Given the description of an element on the screen output the (x, y) to click on. 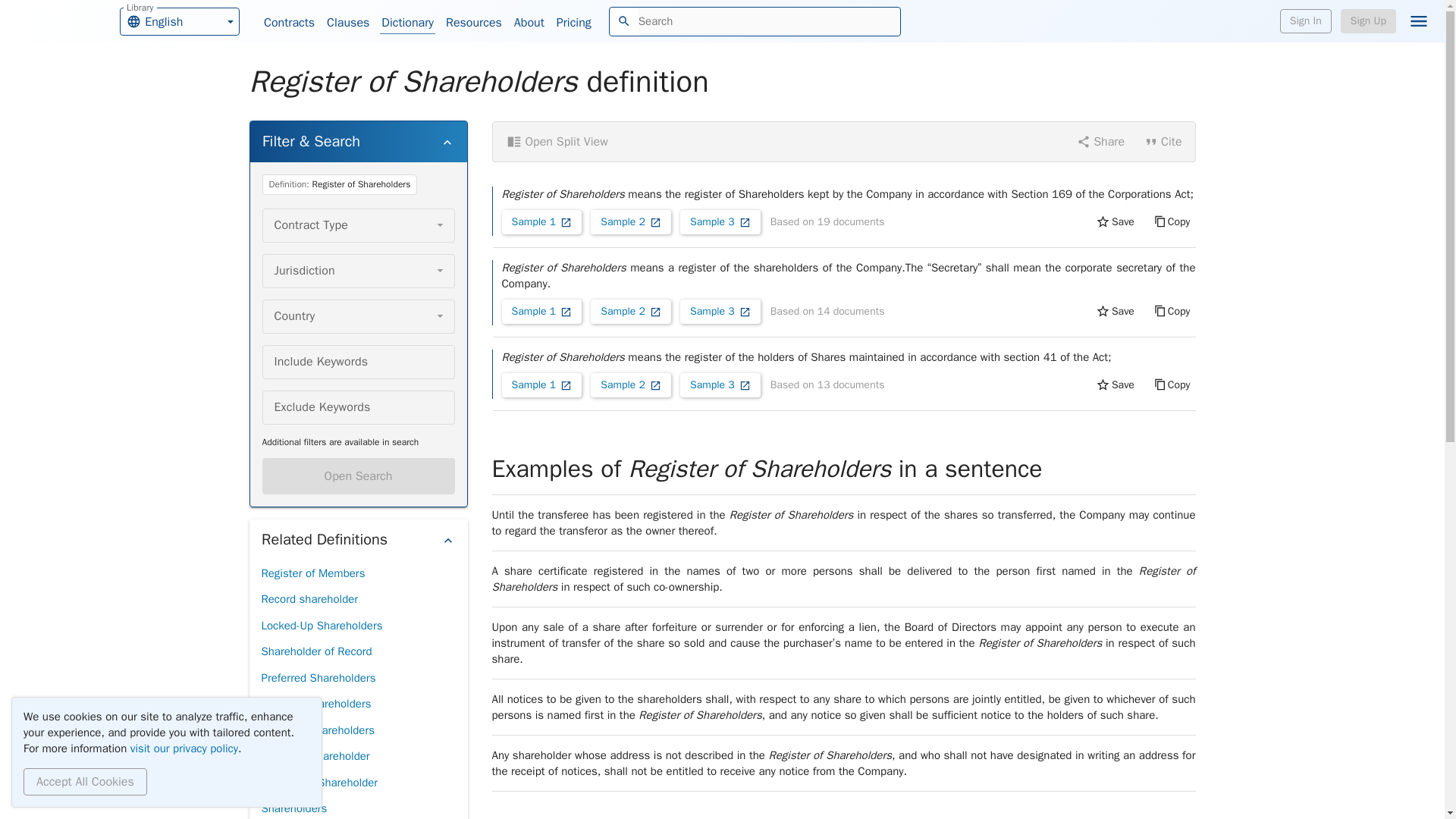
visit our privacy policy (184, 748)
Register of Members (312, 573)
Preferred Shareholders (317, 678)
Shareholders (293, 807)
Accept All Cookies (85, 781)
Pricing (573, 23)
Sign In (1305, 21)
Open Search (358, 475)
Resources (473, 23)
Ordinary Shareholders (315, 704)
About (529, 23)
Locked-Up Shareholders (320, 625)
Common Shareholders (317, 730)
Dictionary (407, 23)
Preferred Shareholder (314, 755)
